Given the description of an element on the screen output the (x, y) to click on. 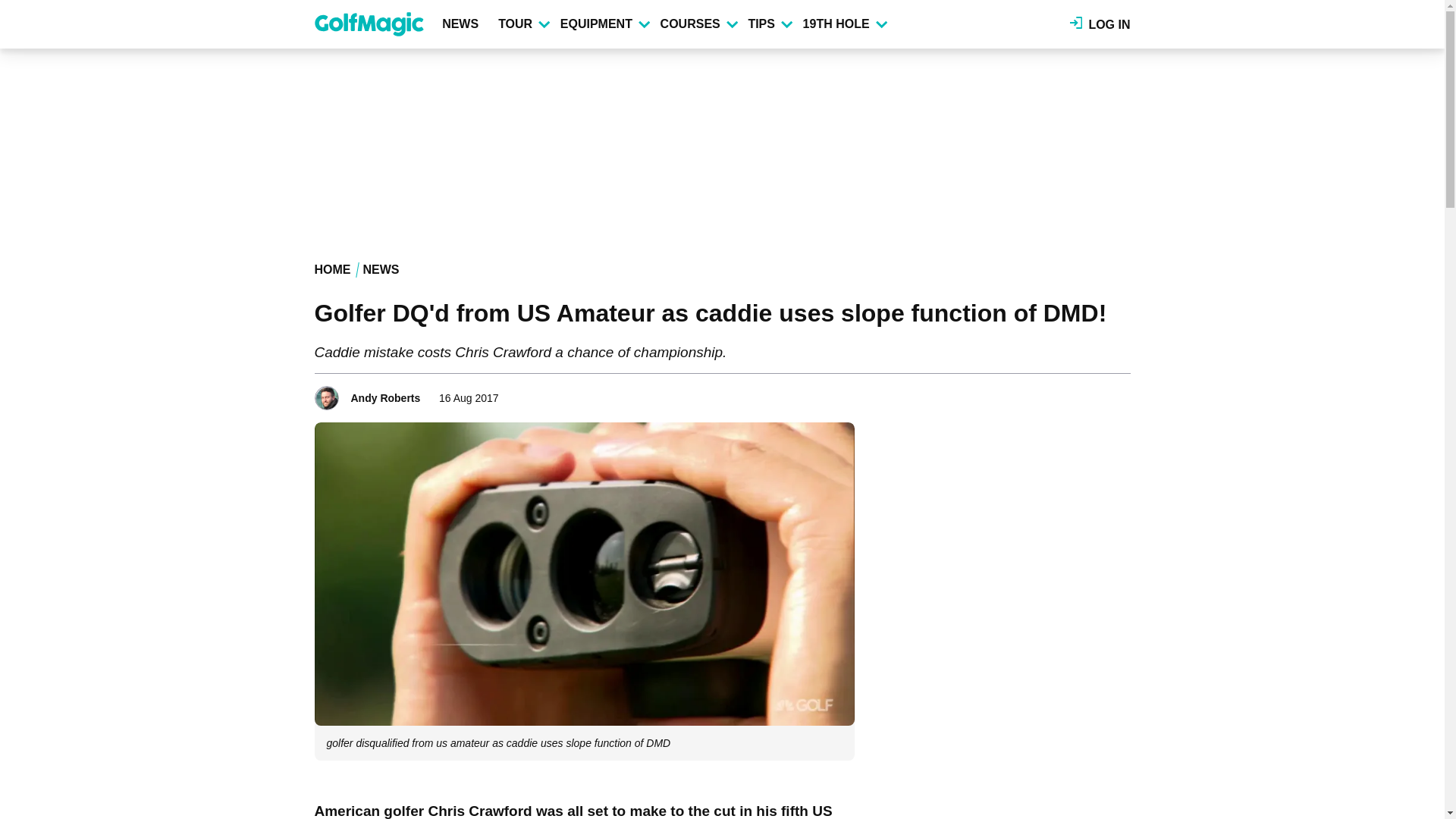
TOUR (523, 24)
Share to X (1076, 393)
Share to Facebook (1055, 393)
LOG IN (1100, 24)
Share to Linkedin (1097, 393)
NEWS (463, 24)
Share to Email (1119, 393)
EQUIPMENT (603, 24)
